Given the description of an element on the screen output the (x, y) to click on. 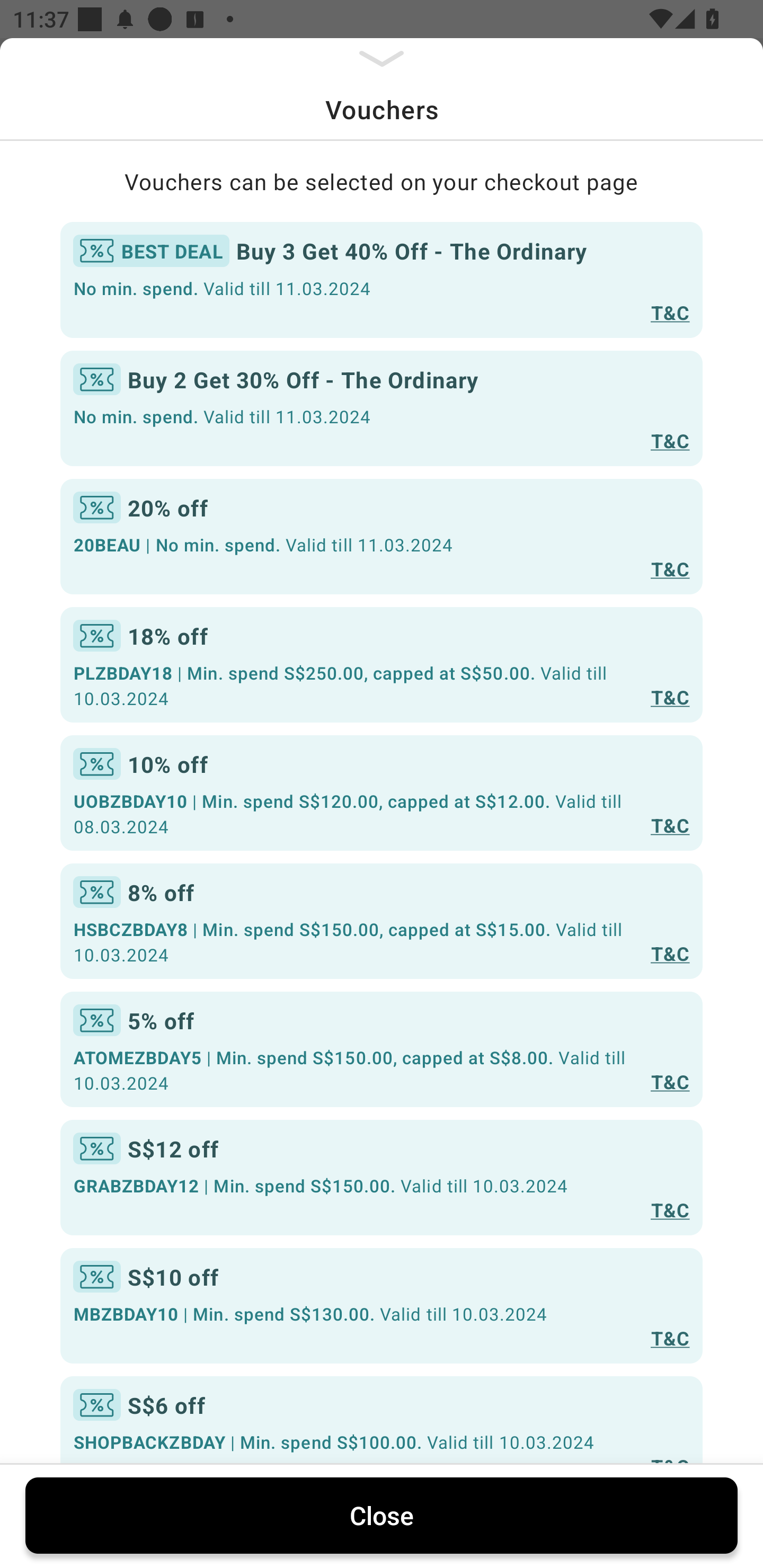
T&C (669, 311)
T&C (669, 440)
T&C (669, 568)
T&C (669, 696)
T&C (669, 824)
T&C (669, 952)
T&C (669, 1080)
T&C (669, 1209)
T&C (669, 1337)
Close (381, 1515)
